Given the description of an element on the screen output the (x, y) to click on. 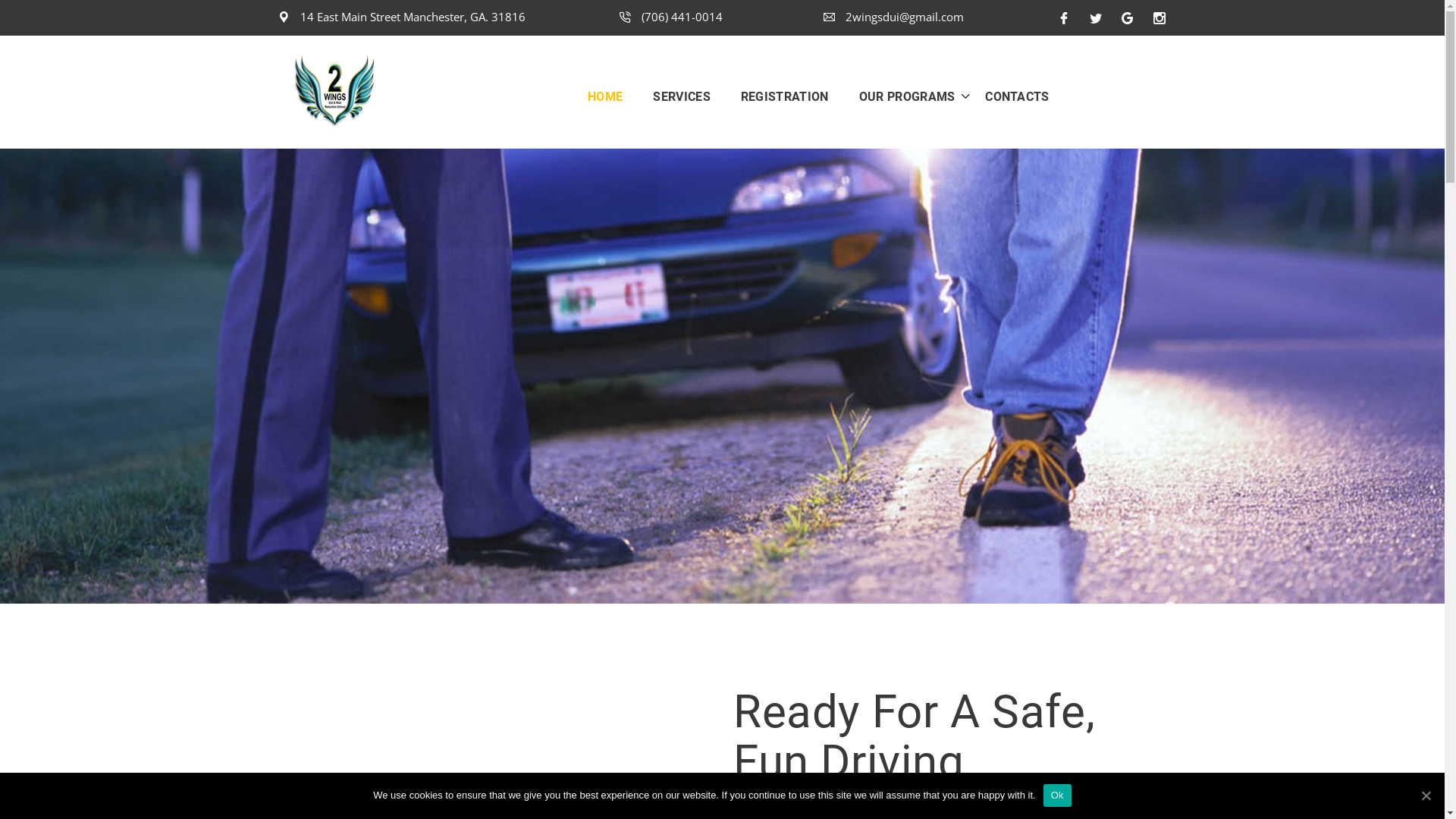
Ok Element type: text (1057, 795)
(706) 441-0014 Element type: text (670, 16)
CONTACTS Element type: text (1009, 96)
14 East Main Street Manchester, GA. 31816 Element type: text (401, 16)
OUR PROGRAMS Element type: text (901, 96)
HOME Element type: text (612, 96)
REGISTRATION Element type: text (784, 96)
2wingsdui@gmail.com Element type: text (893, 16)
SERVICES Element type: text (681, 96)
